Given the description of an element on the screen output the (x, y) to click on. 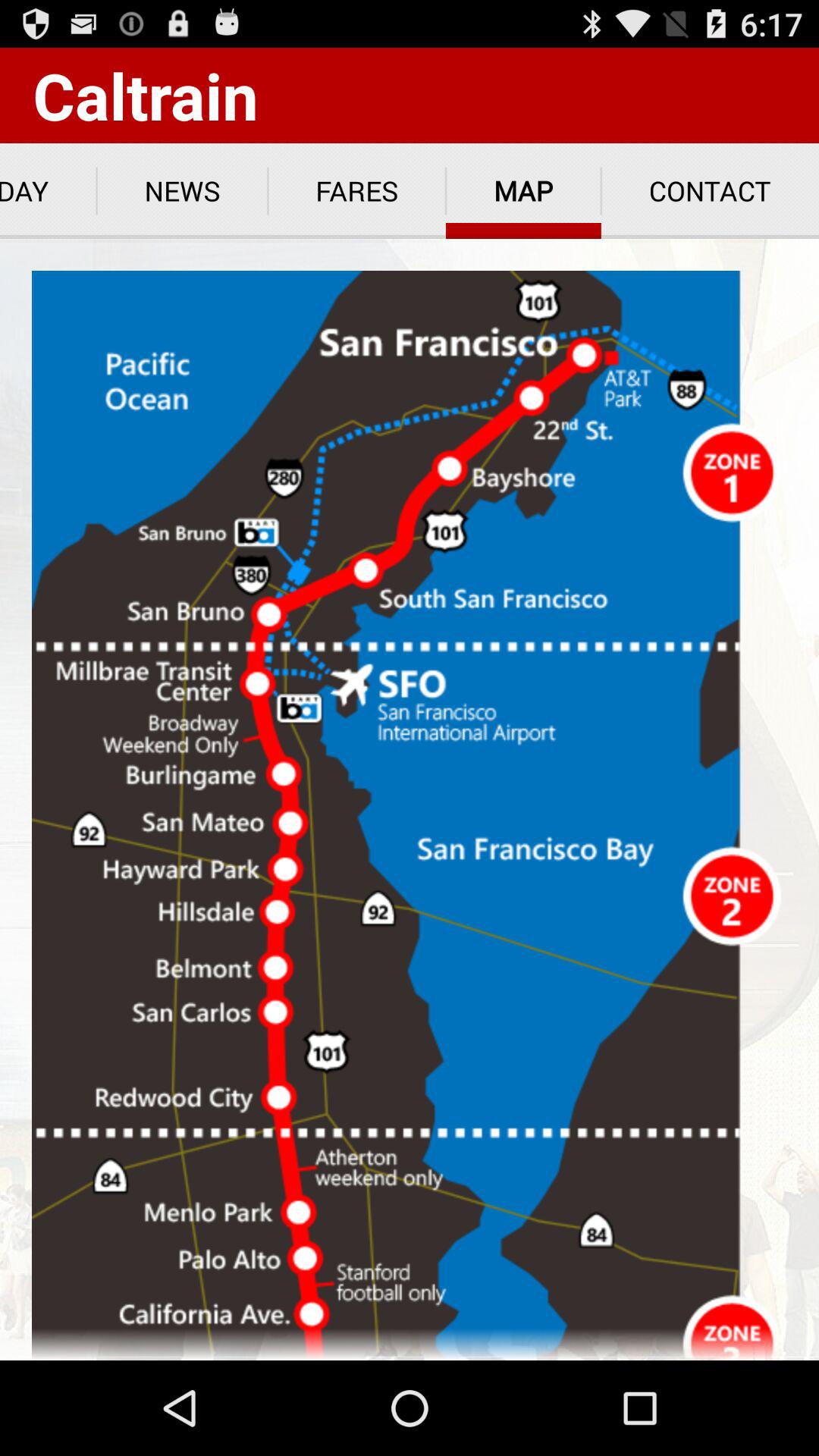
choose the icon to the right of today (181, 190)
